Given the description of an element on the screen output the (x, y) to click on. 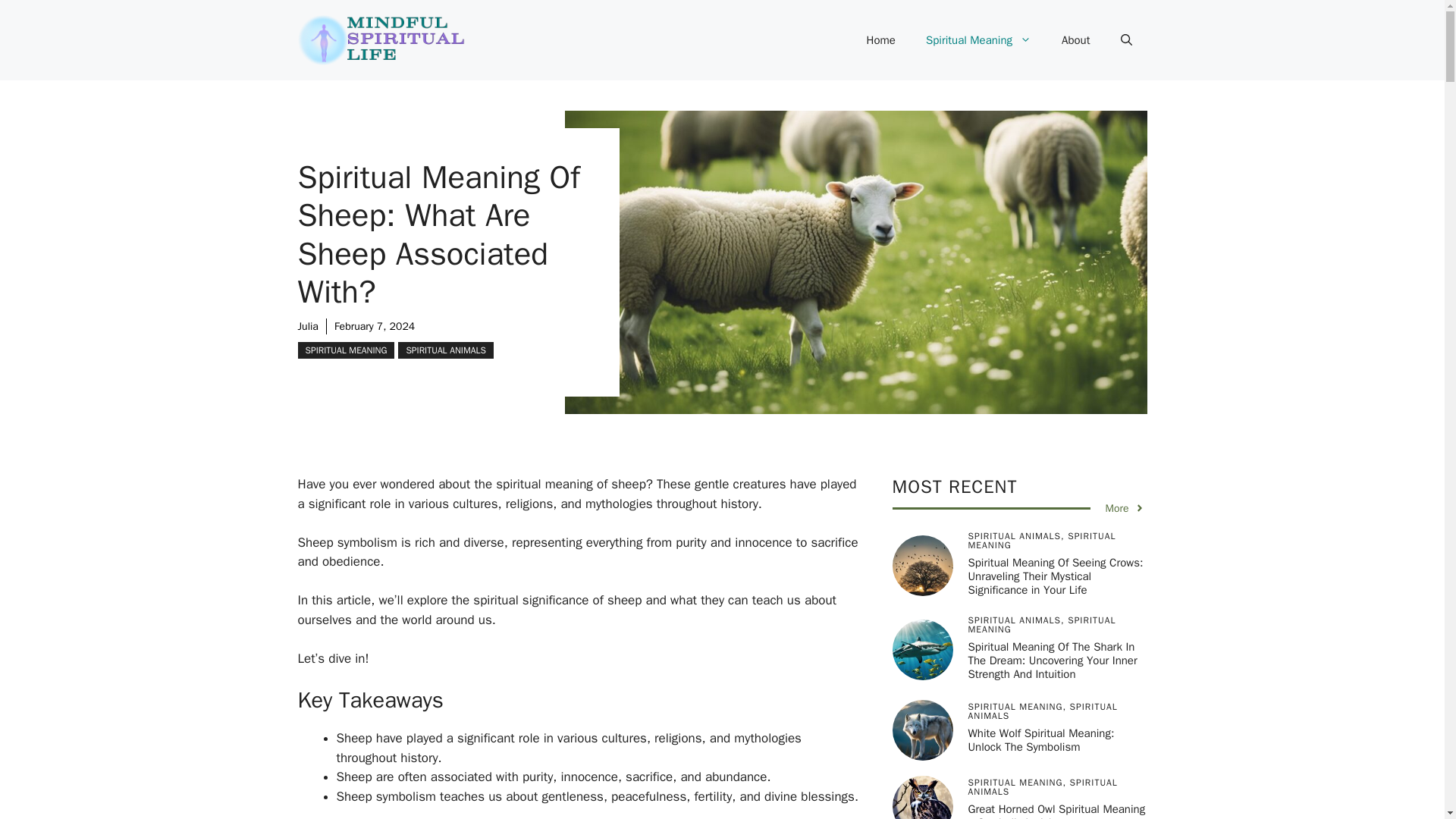
SPIRITUAL MEANING (345, 350)
More (1124, 508)
Julia (307, 326)
Spiritual Meaning (978, 40)
Home (881, 40)
SPIRITUAL ANIMALS (445, 350)
White Wolf Spiritual Meaning: Unlock The Symbolism (1040, 739)
About (1075, 40)
